Given the description of an element on the screen output the (x, y) to click on. 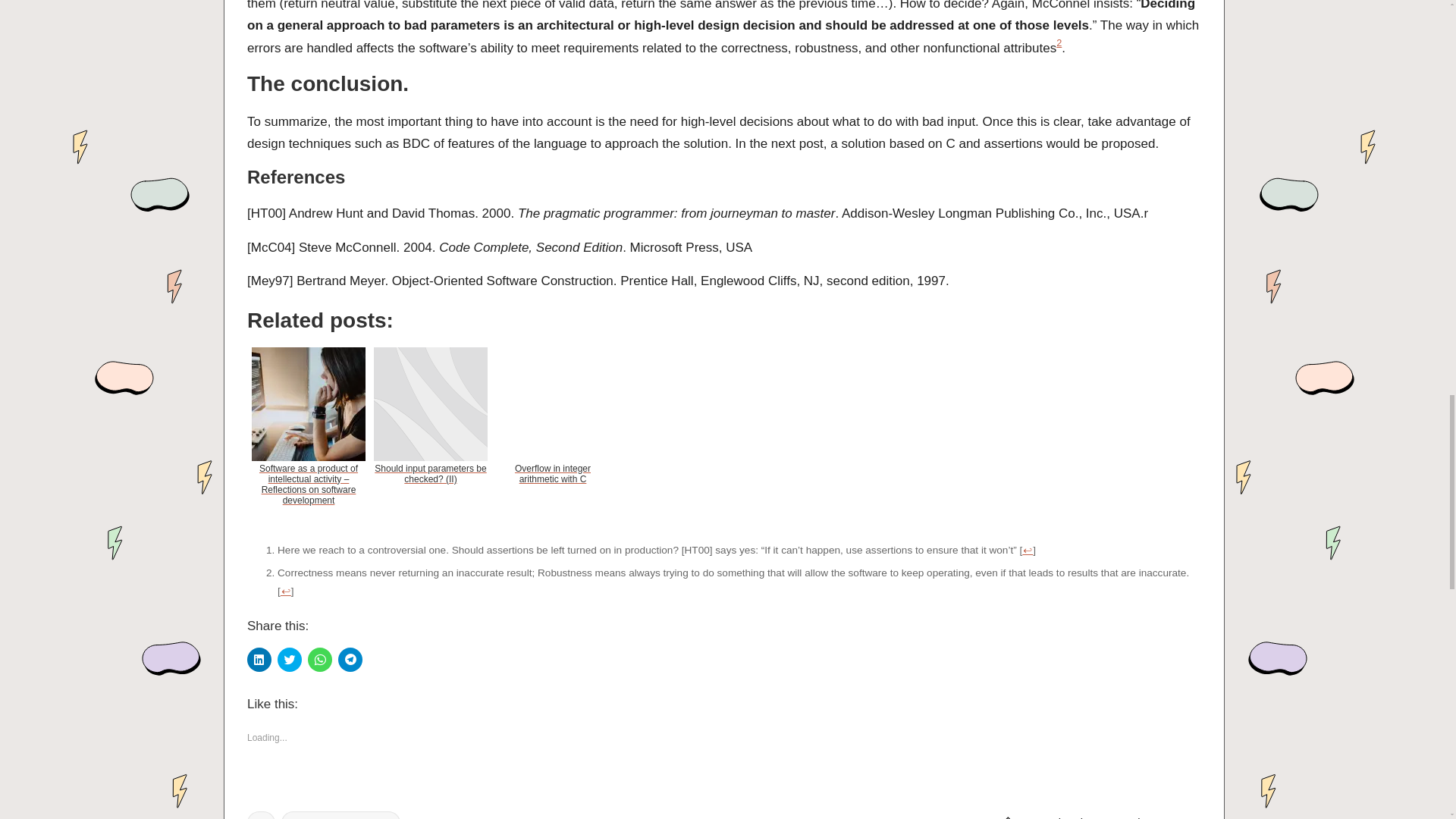
Click to share on LinkedIn (258, 659)
Click to share on Twitter (289, 659)
Click to share on Telegram (349, 659)
c (261, 815)
Click to share on WhatsApp (319, 659)
